Given the description of an element on the screen output the (x, y) to click on. 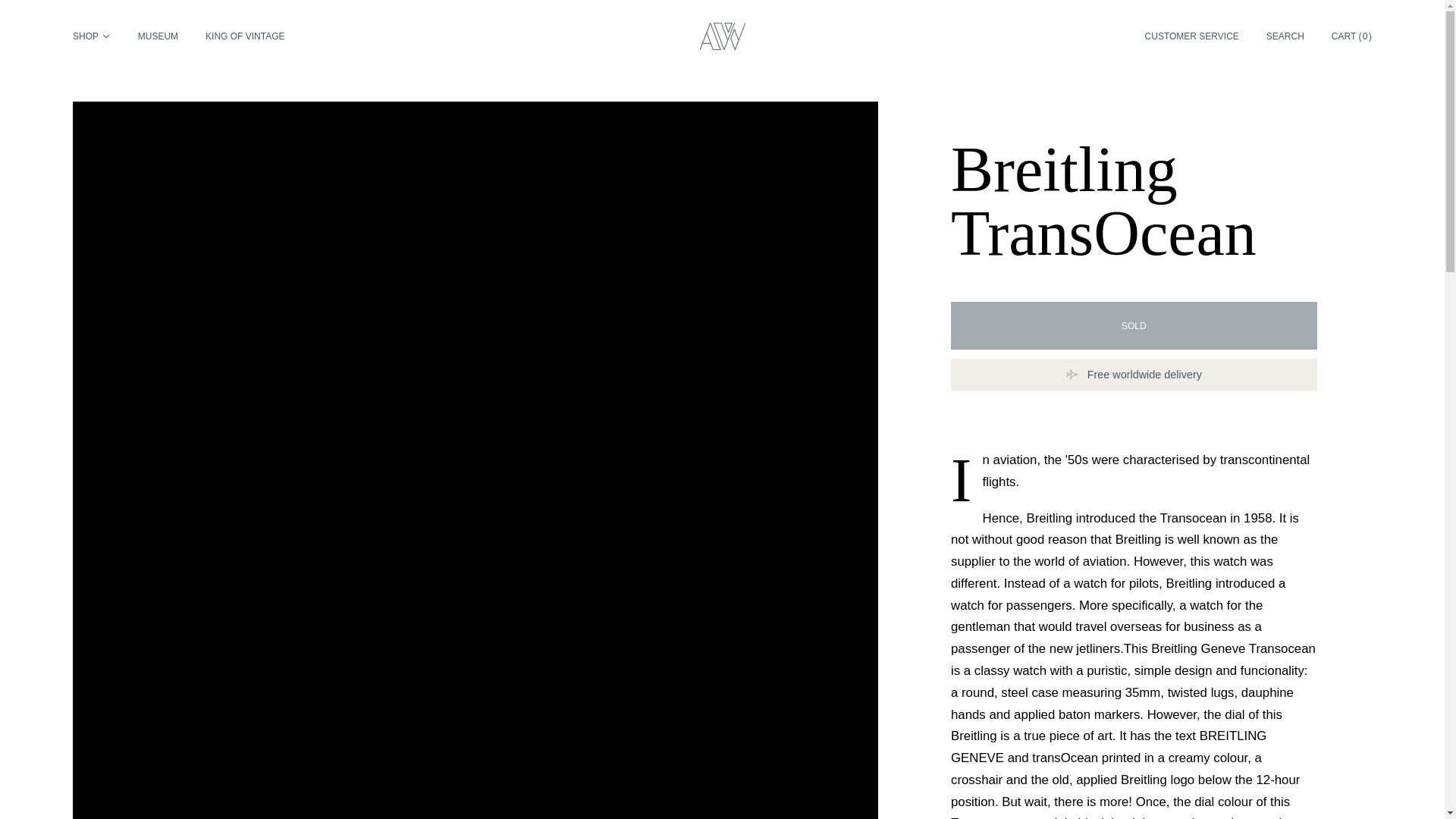
CUSTOMER SERVICE (1191, 36)
KING OF VINTAGE (244, 36)
SEARCH (1285, 36)
MUSEUM (157, 36)
SHOP (91, 36)
